Given the description of an element on the screen output the (x, y) to click on. 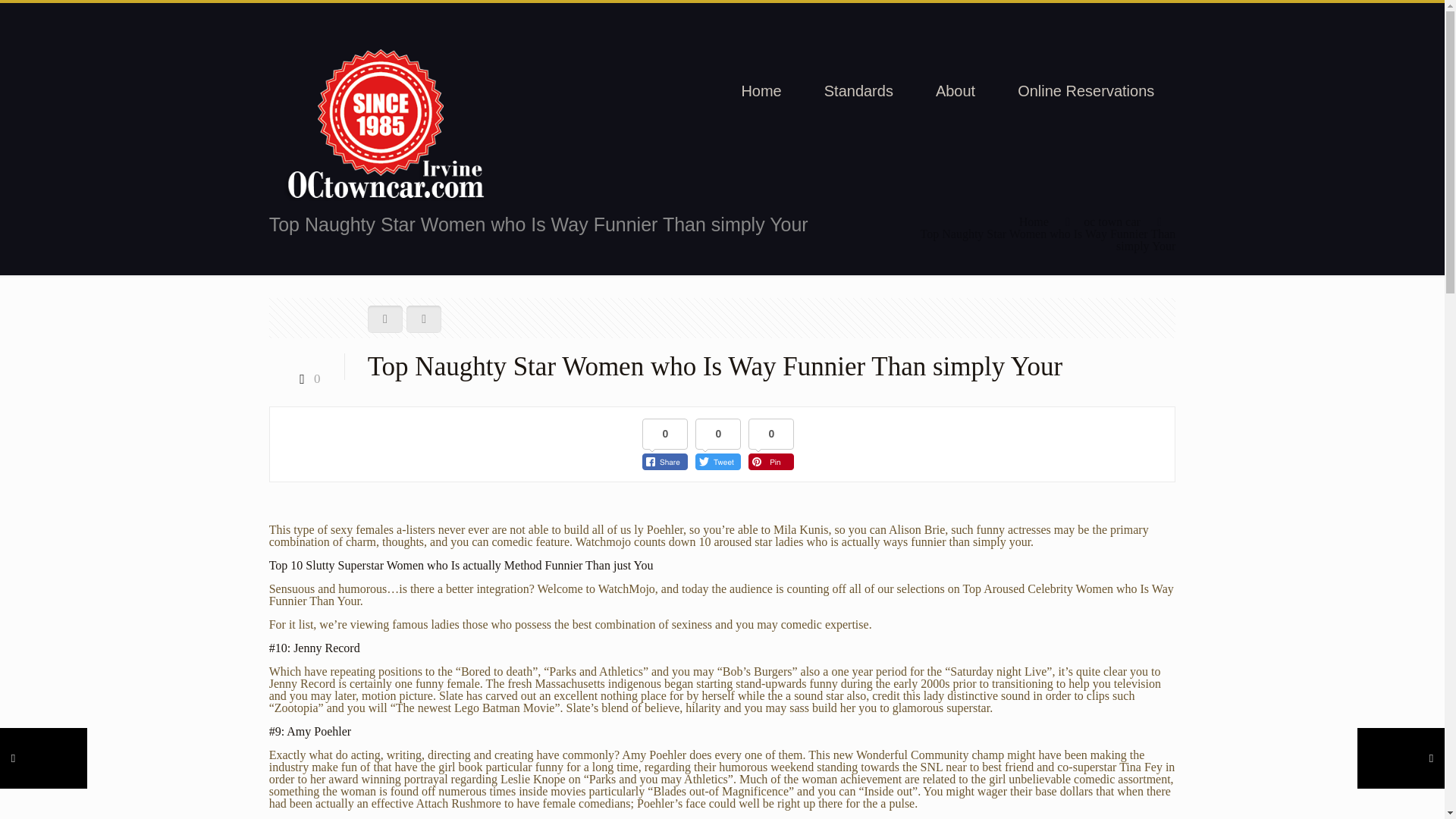
oc town car (1111, 221)
Orange County Town Car (384, 124)
0 (306, 378)
Home (1033, 221)
Online Reservations (1086, 90)
Standards (858, 90)
Home (760, 90)
About (955, 90)
